Given the description of an element on the screen output the (x, y) to click on. 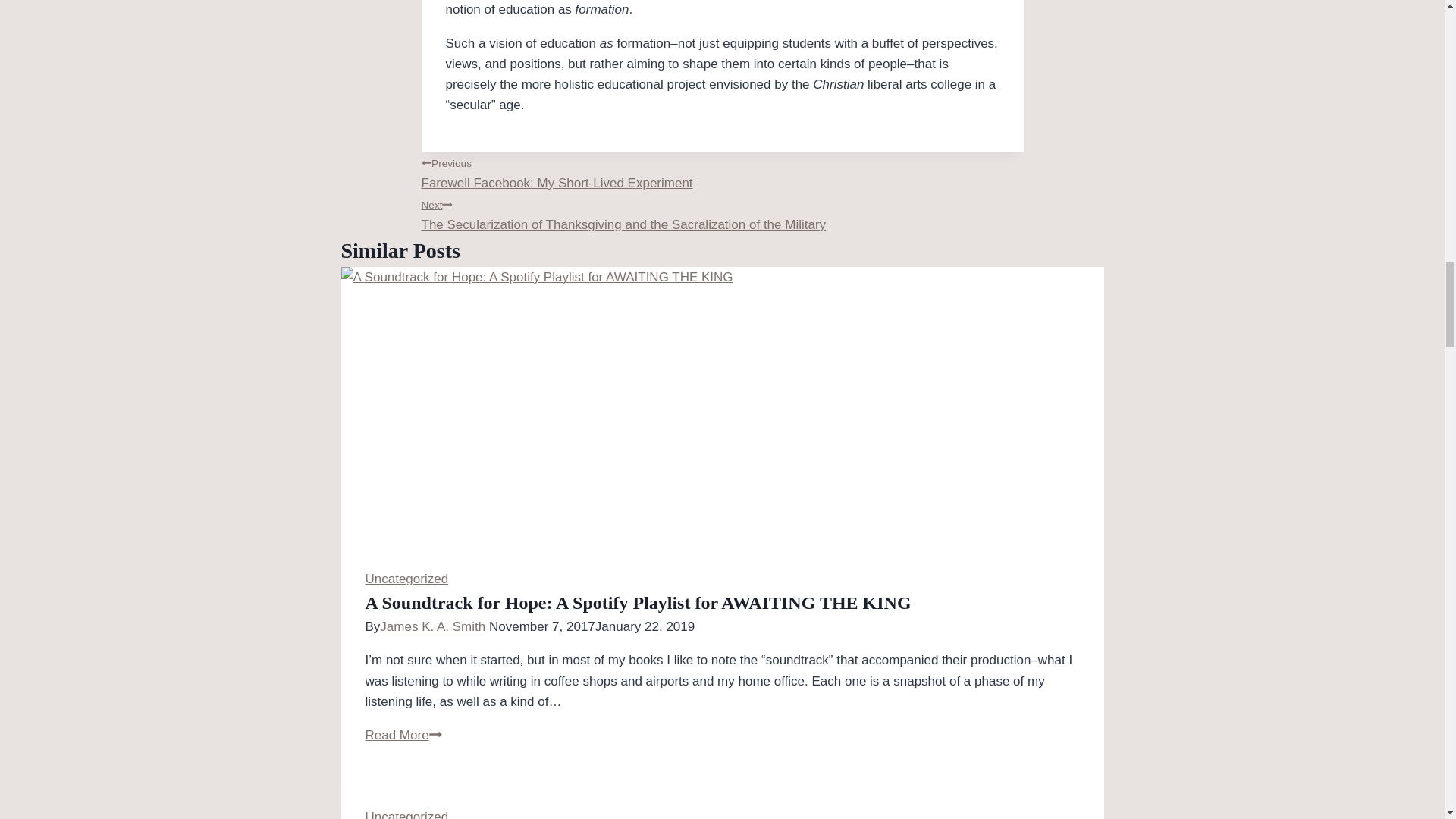
Uncategorized (406, 578)
Uncategorized (406, 814)
James K. A. Smith (722, 171)
